Given the description of an element on the screen output the (x, y) to click on. 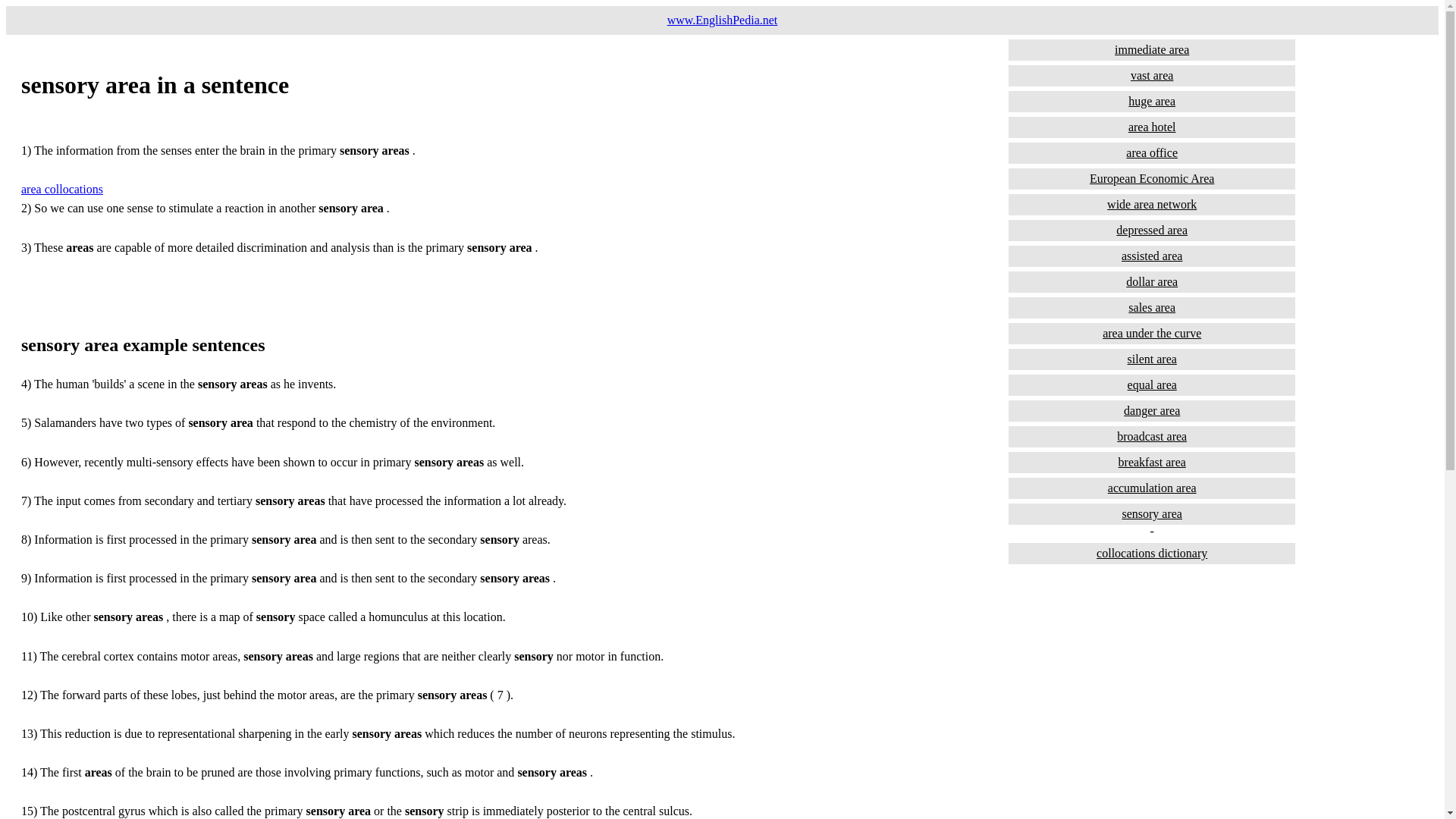
vast area (1152, 75)
broadcast area in a sentence (1152, 436)
huge area in a sentence (1152, 101)
depressed area (1152, 230)
collocations dictionary (1152, 553)
European Economic Area in a sentence (1152, 178)
breakfast area in a sentence (1152, 462)
huge area (1152, 101)
silent area (1152, 359)
wide area network in a sentence (1152, 204)
